Given the description of an element on the screen output the (x, y) to click on. 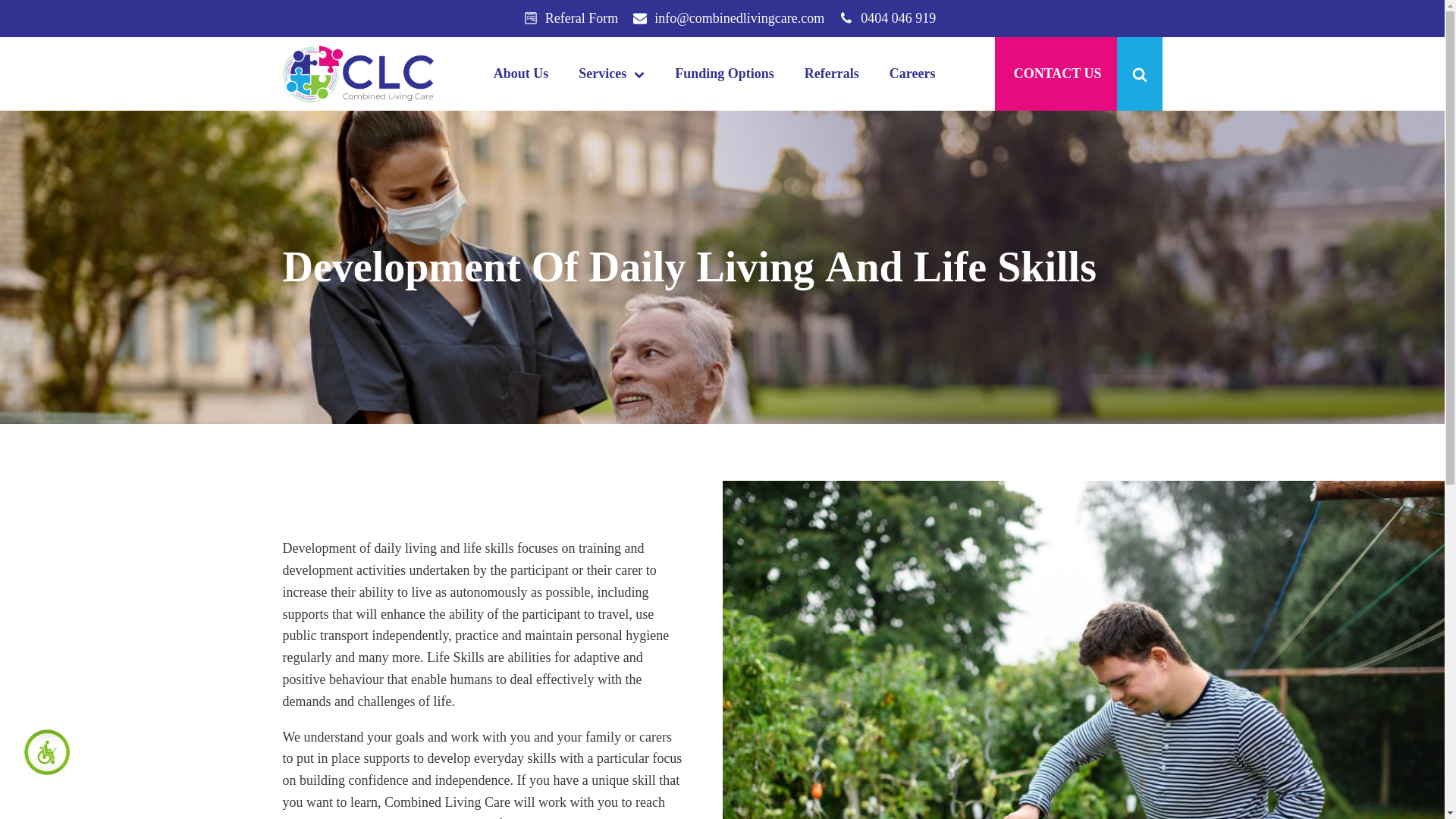
Accessibility Helper sidebar (42, 747)
